Given the description of an element on the screen output the (x, y) to click on. 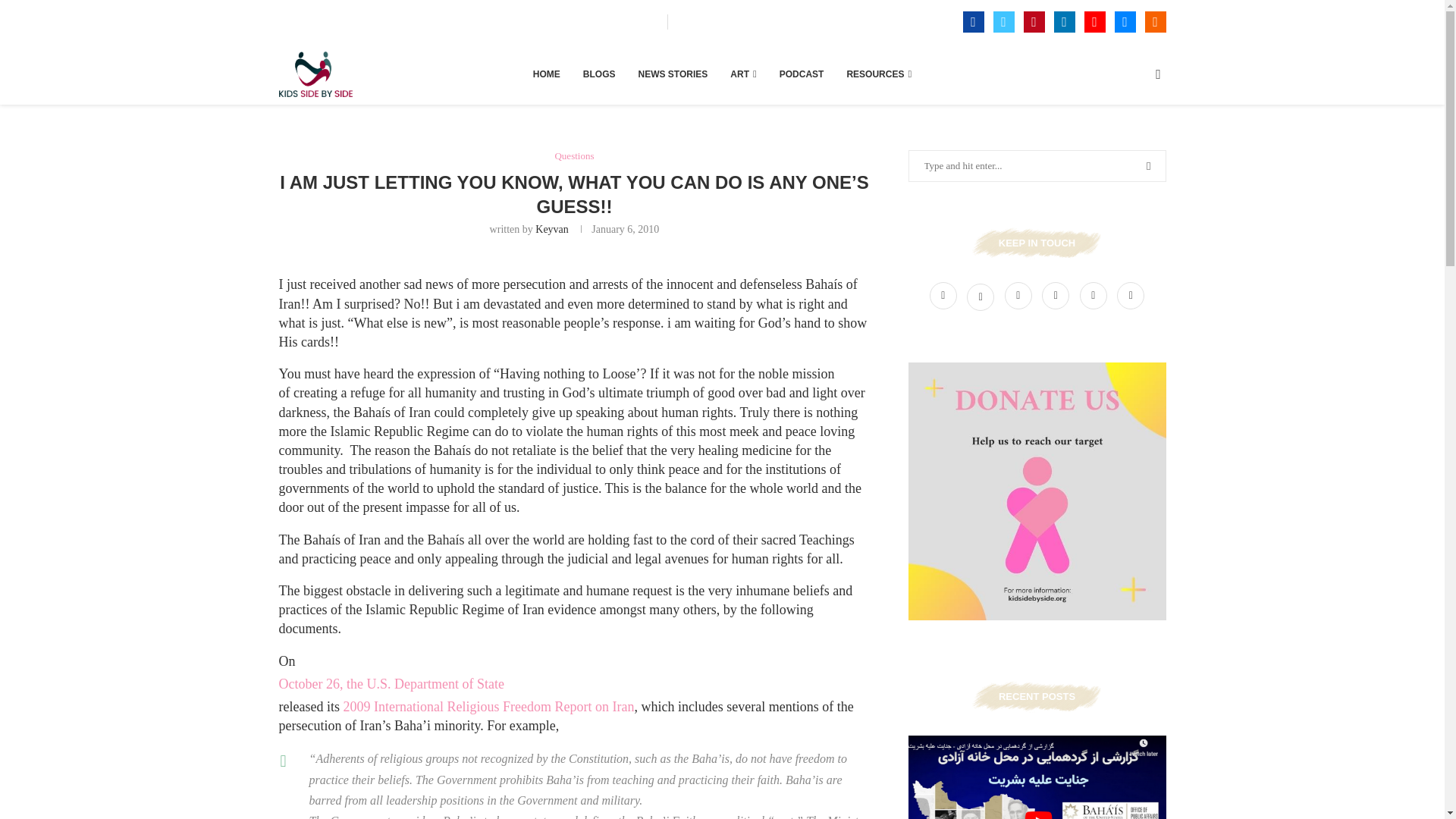
RESOURCES (878, 74)
PODCAST (801, 74)
NEWS STORIES (673, 74)
